Given the description of an element on the screen output the (x, y) to click on. 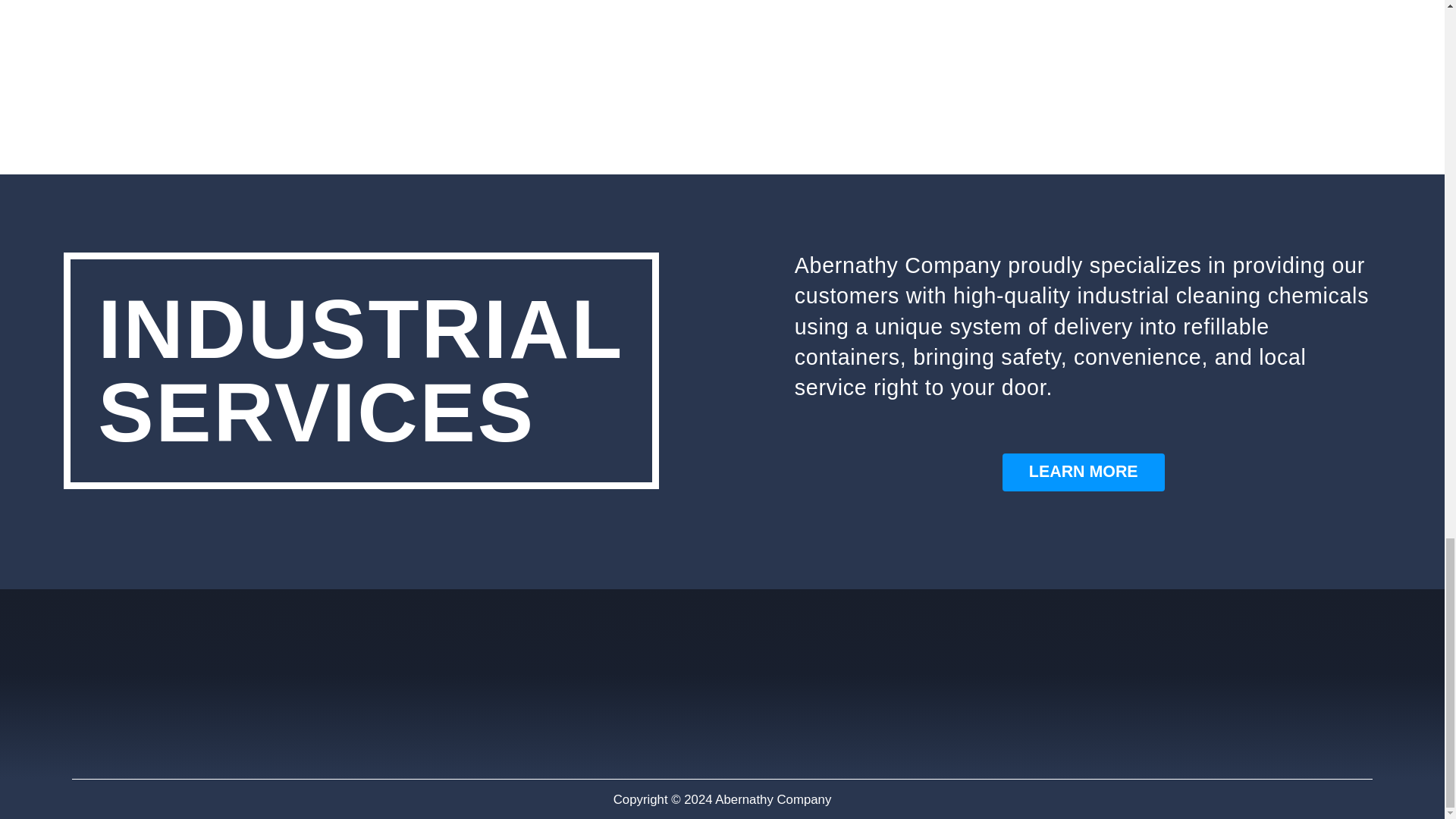
LEARN MORE (1083, 472)
LEARN MORE (1083, 471)
